Given the description of an element on the screen output the (x, y) to click on. 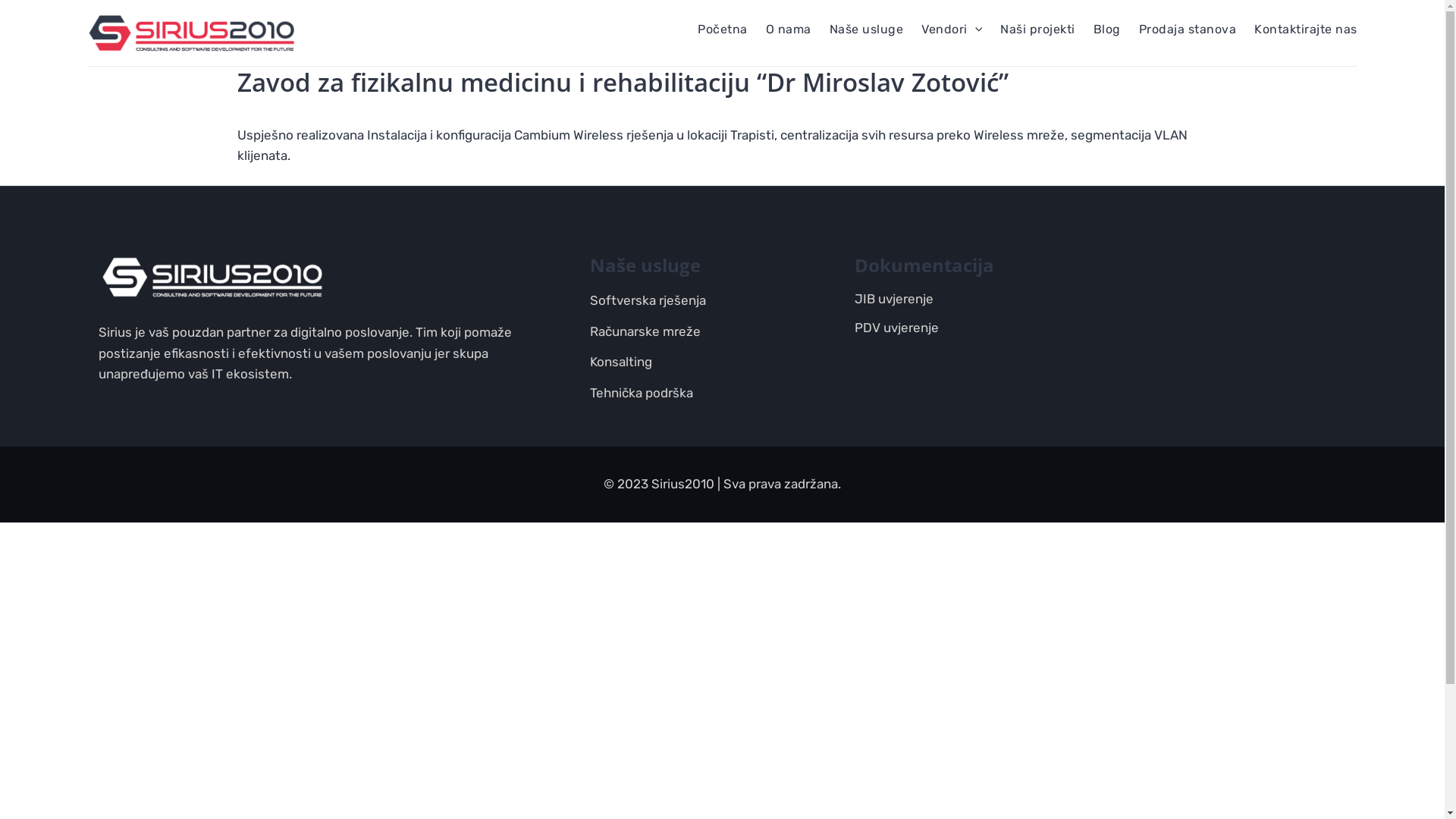
PDV uvjerenje Element type: text (896, 327)
Konsalting Element type: text (620, 361)
Kontaktirajte nas Element type: text (1305, 29)
O nama Element type: text (788, 29)
Blog Element type: text (1106, 29)
Prodaja stanova Element type: text (1187, 29)
JIB uvjerenje Element type: text (893, 298)
Vendori Element type: text (951, 29)
